Given the description of an element on the screen output the (x, y) to click on. 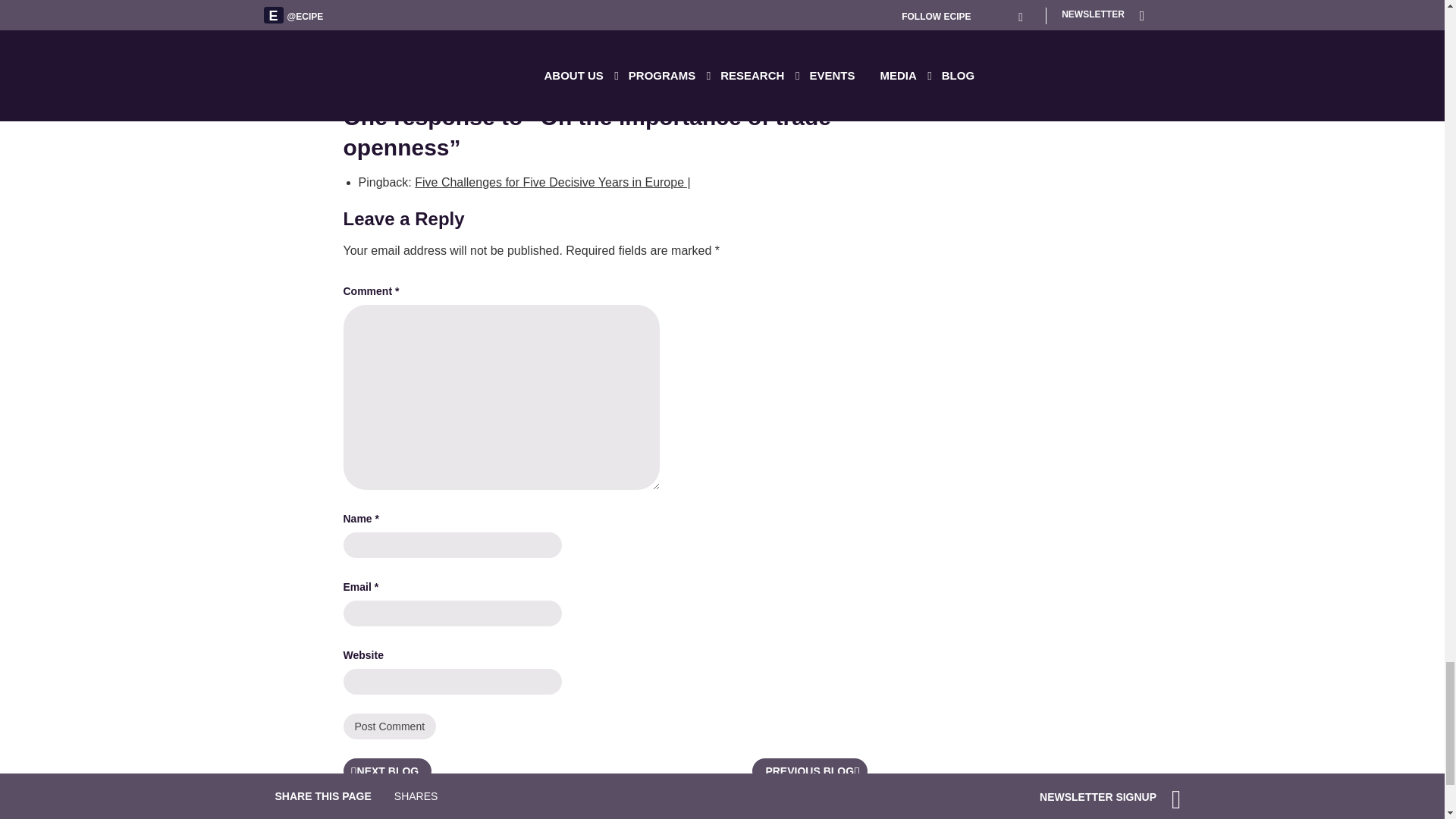
Post Comment (388, 726)
